Given the description of an element on the screen output the (x, y) to click on. 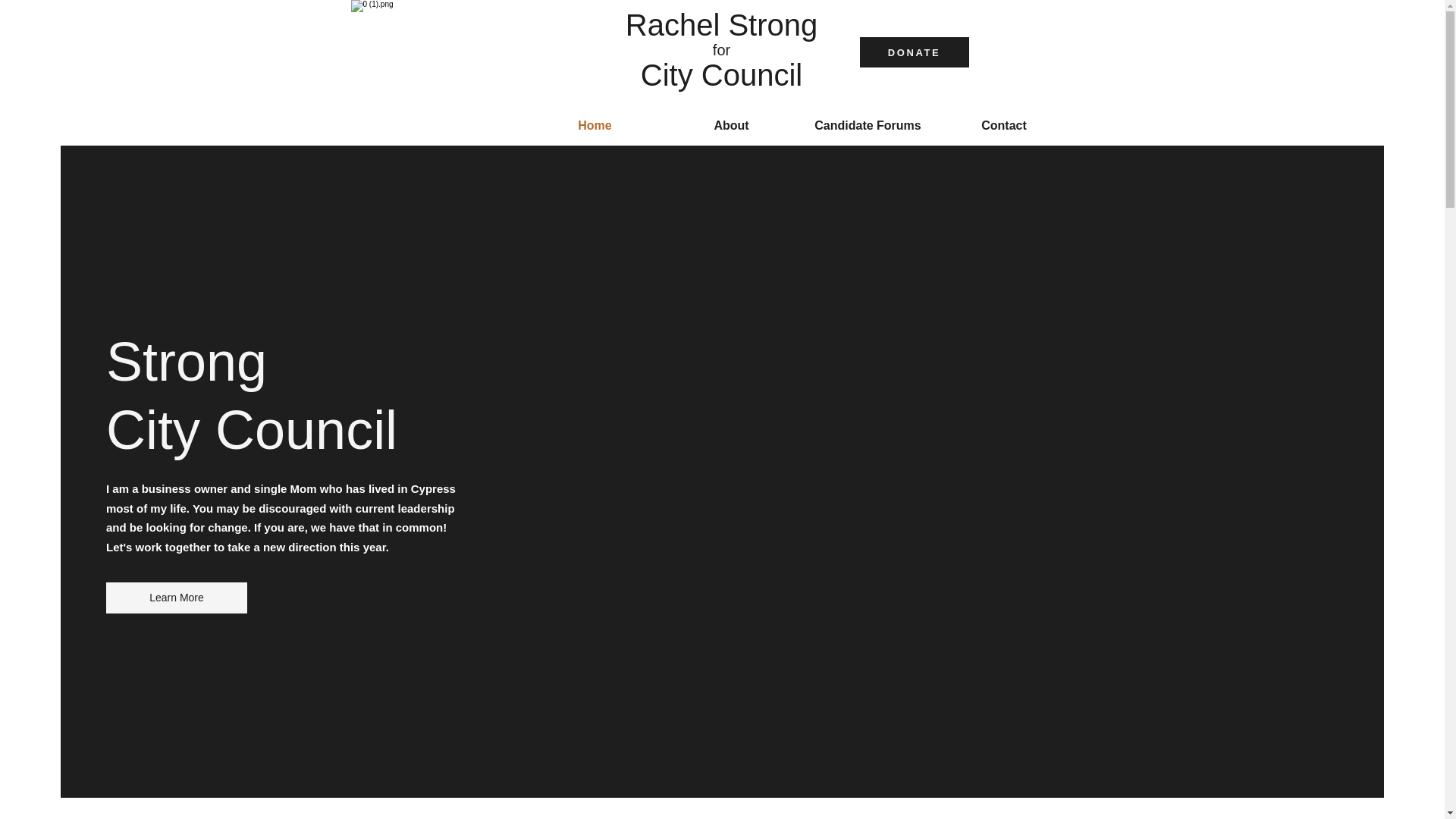
Learn More (176, 597)
Candidate Forums (867, 125)
DONATE (914, 51)
About (730, 125)
Contact (1003, 125)
Home (593, 125)
Rachel Strong (721, 24)
